Given the description of an element on the screen output the (x, y) to click on. 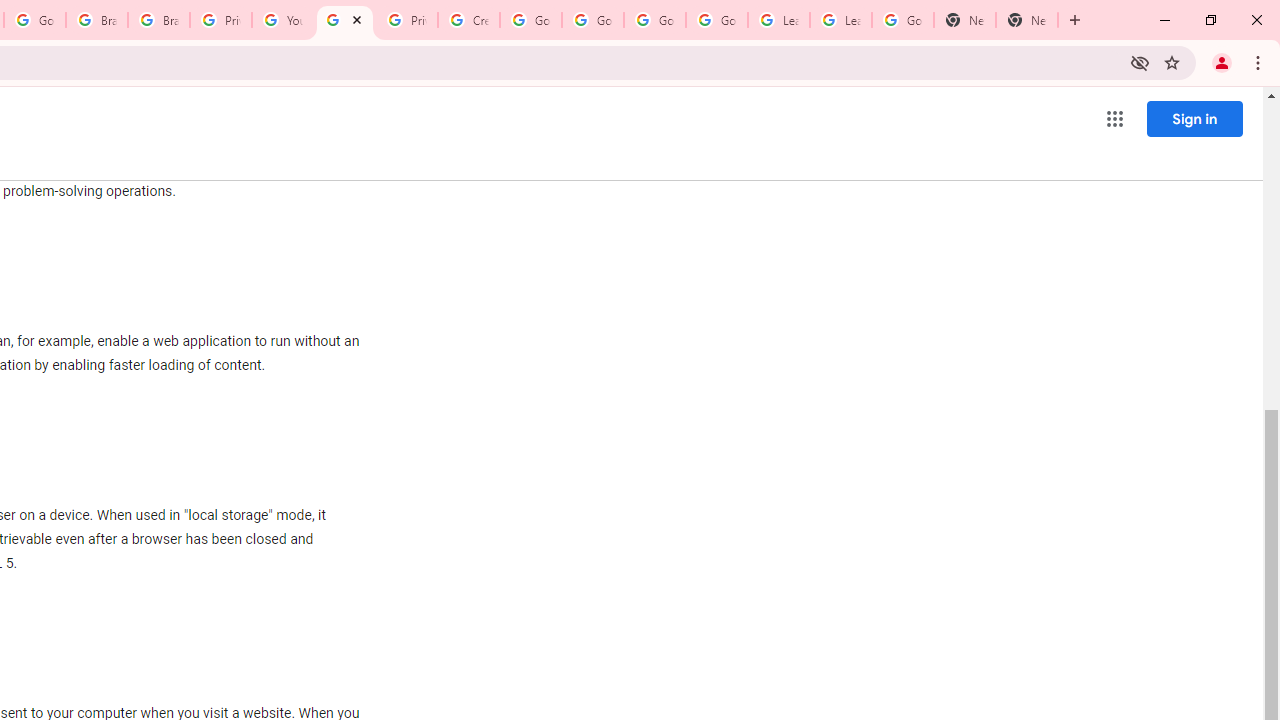
Google Account Help (716, 20)
New Tab (1026, 20)
Brand Resource Center (96, 20)
Brand Resource Center (158, 20)
Google Account Help (592, 20)
Google Account (902, 20)
